Given the description of an element on the screen output the (x, y) to click on. 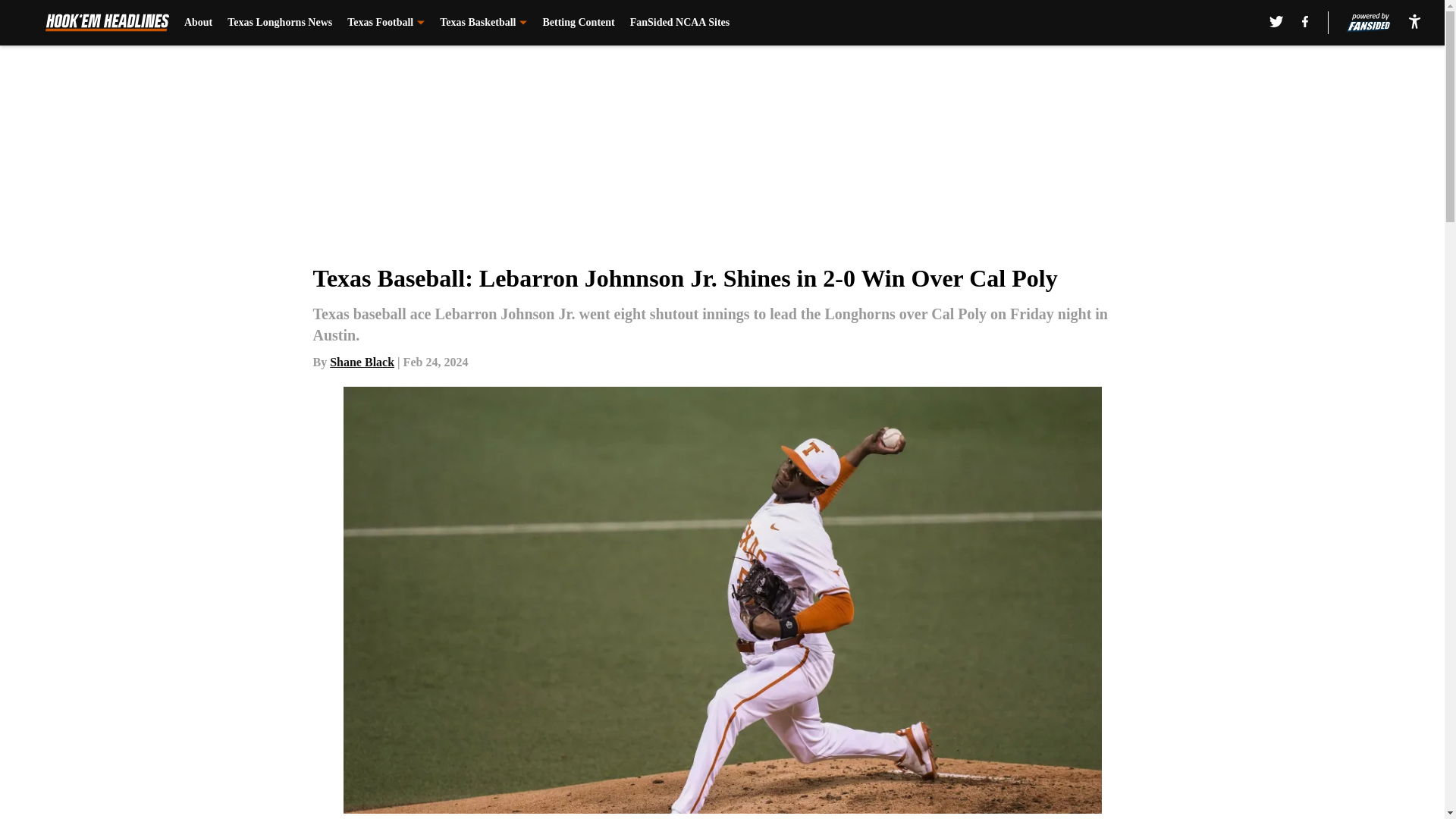
Shane Black (362, 361)
FanSided NCAA Sites (679, 22)
Texas Longhorns News (279, 22)
Betting Content (577, 22)
About (198, 22)
